Given the description of an element on the screen output the (x, y) to click on. 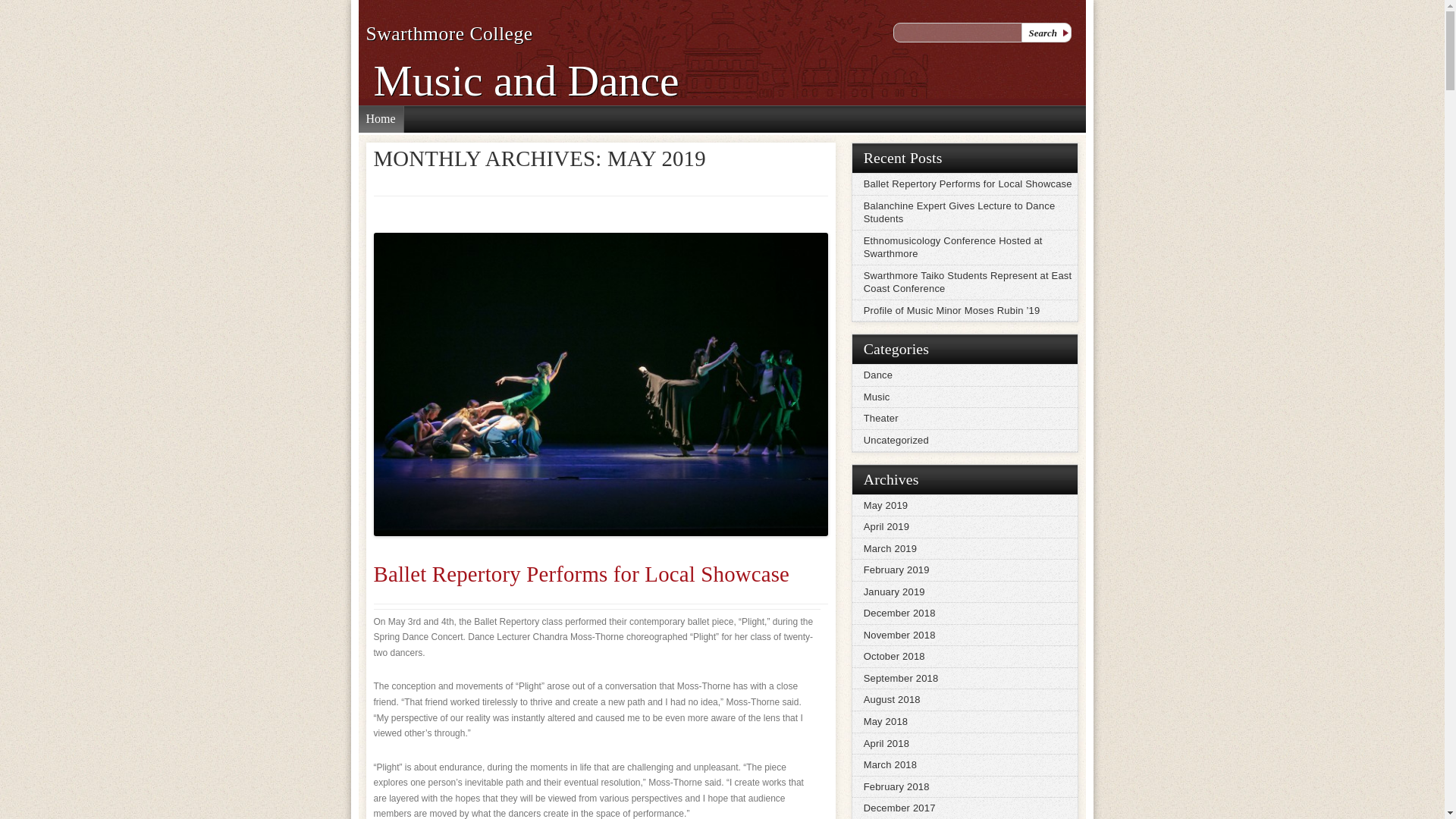
Dance (964, 374)
Balanchine Expert Gives Lecture to Dance Students (964, 212)
Search (1046, 32)
Ethnomusicology Conference Hosted at Swarthmore (964, 247)
Search (1046, 32)
Theater (964, 418)
Permalink to Ballet Repertory Performs for Local Showcase (580, 573)
Home (380, 116)
Music and Dance (525, 80)
Ballet Repertory Performs for Local Showcase (580, 573)
Swarthmore Taiko Students Represent at East Coast Conference (964, 282)
Music (964, 396)
Ballet Repertory Performs for Local Showcase (964, 183)
Music and Dance (525, 80)
